Given the description of an element on the screen output the (x, y) to click on. 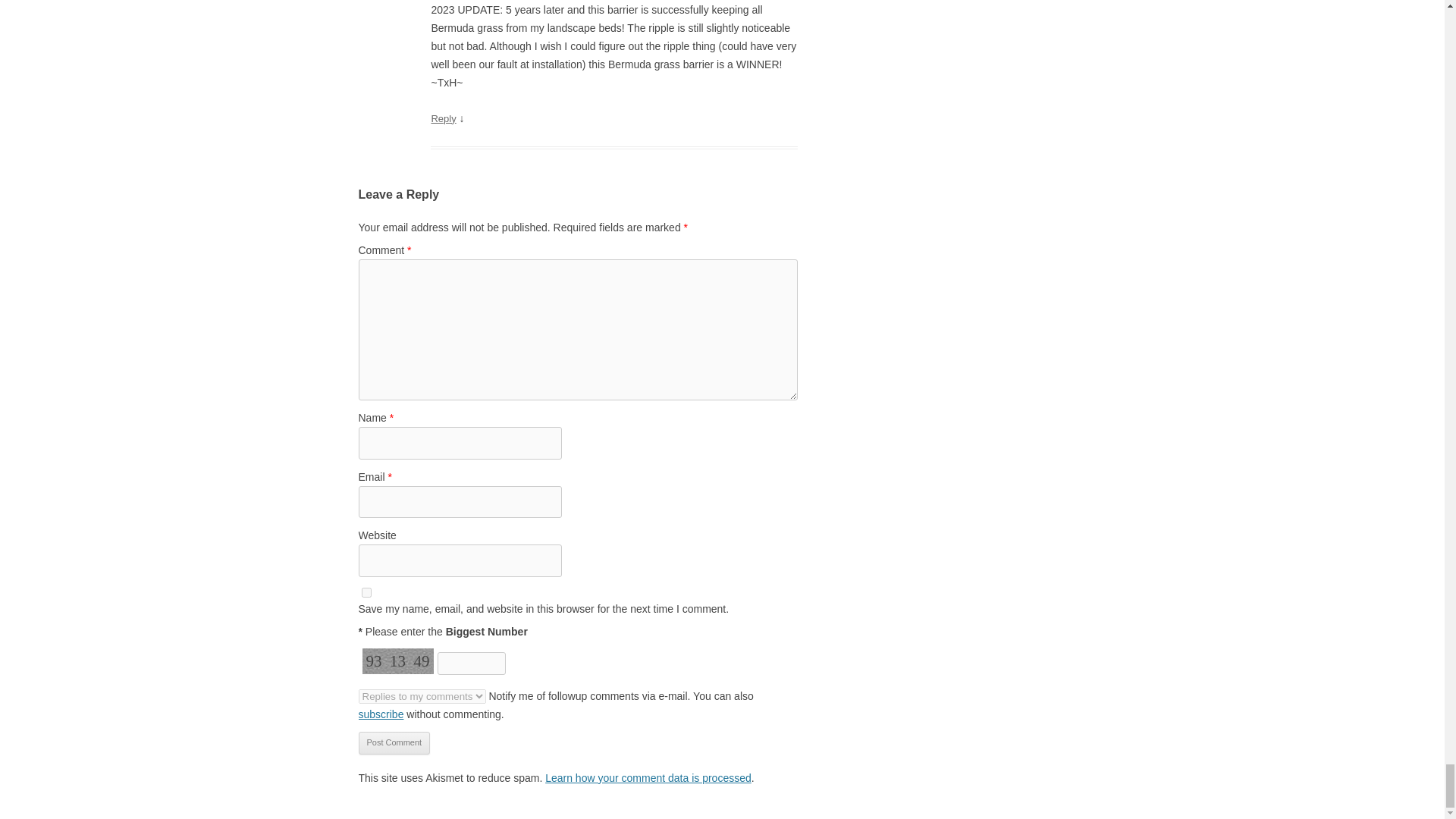
Post Comment (393, 743)
yes (366, 592)
